Given the description of an element on the screen output the (x, y) to click on. 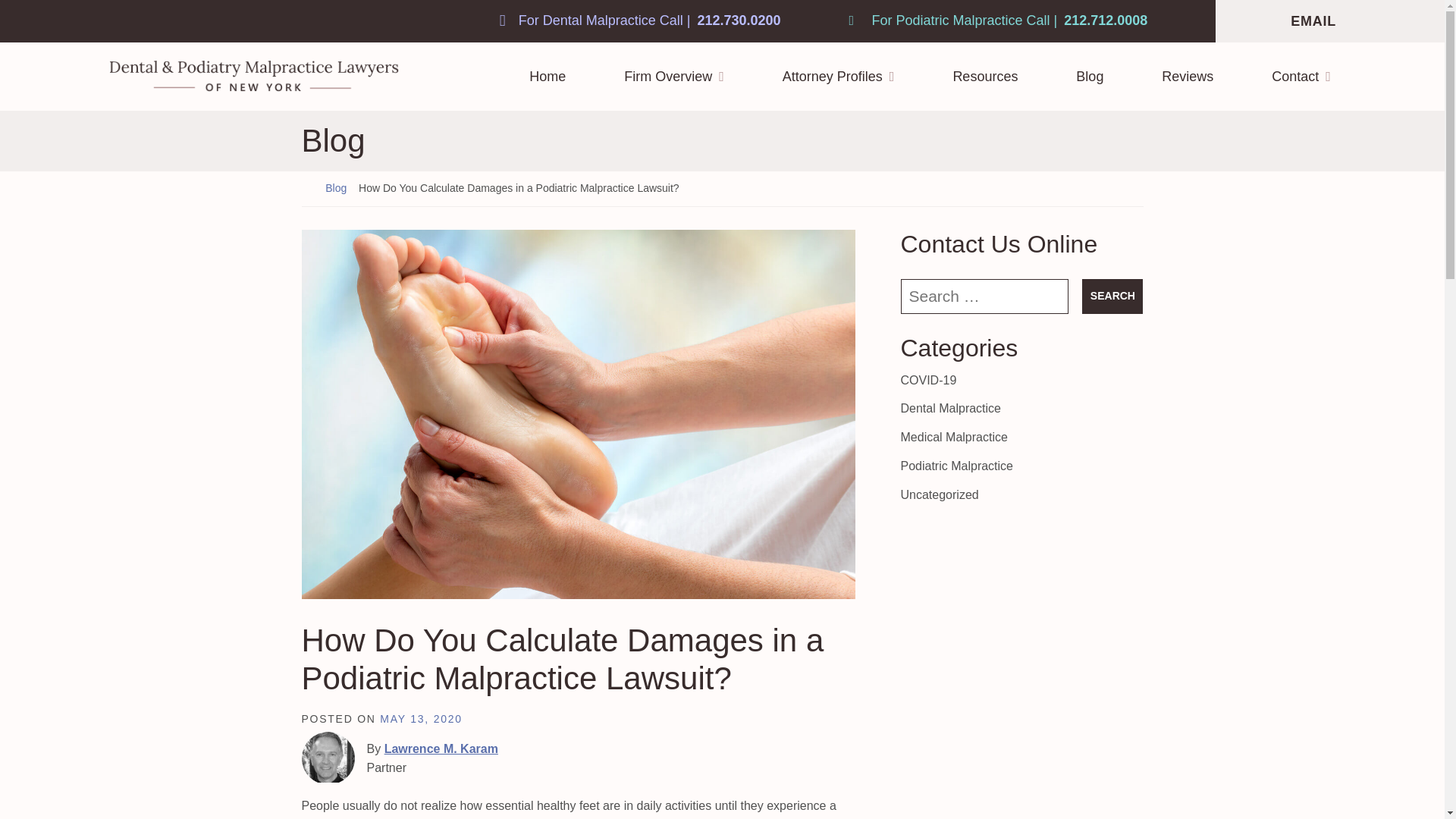
MAY 13, 2020 (420, 718)
212.730.0200 (639, 21)
Dental Malpractice (951, 408)
Search (1111, 296)
Attorney Profiles (838, 79)
Uncategorized (939, 494)
Reviews (1187, 79)
Home (547, 79)
Breadcrumb trail (721, 188)
Search (1111, 296)
